Given the description of an element on the screen output the (x, y) to click on. 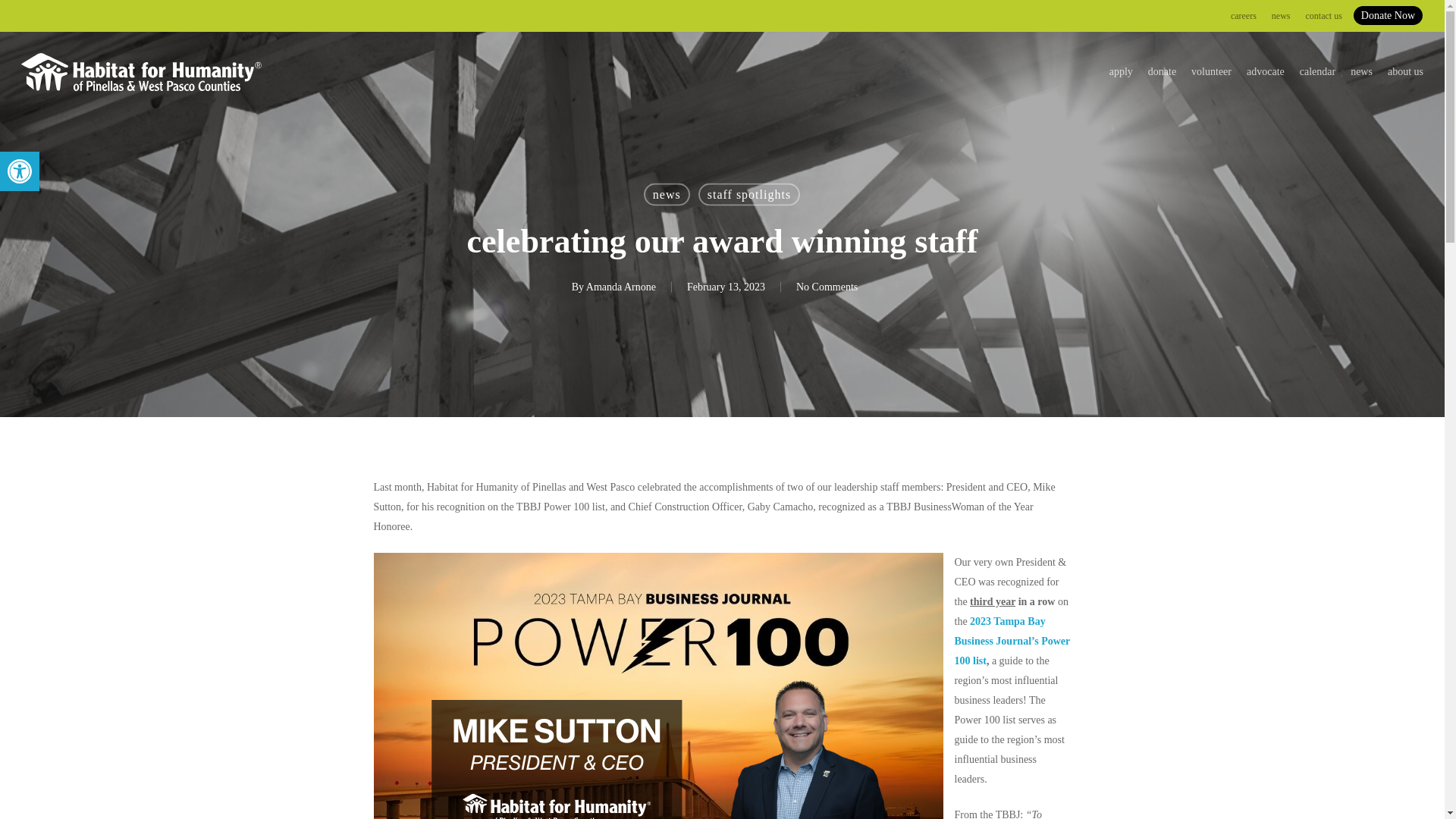
careers (1243, 15)
contact us (1324, 15)
about us (19, 170)
Donate Now (1405, 71)
apply (1388, 15)
advocate (1120, 71)
Accessibility Tools (1265, 71)
calendar (19, 170)
volunteer (1317, 71)
Accessibility Tools (1211, 71)
news (19, 170)
news (1280, 15)
Posts by Amanda Arnone (1362, 71)
donate (621, 285)
